Given the description of an element on the screen output the (x, y) to click on. 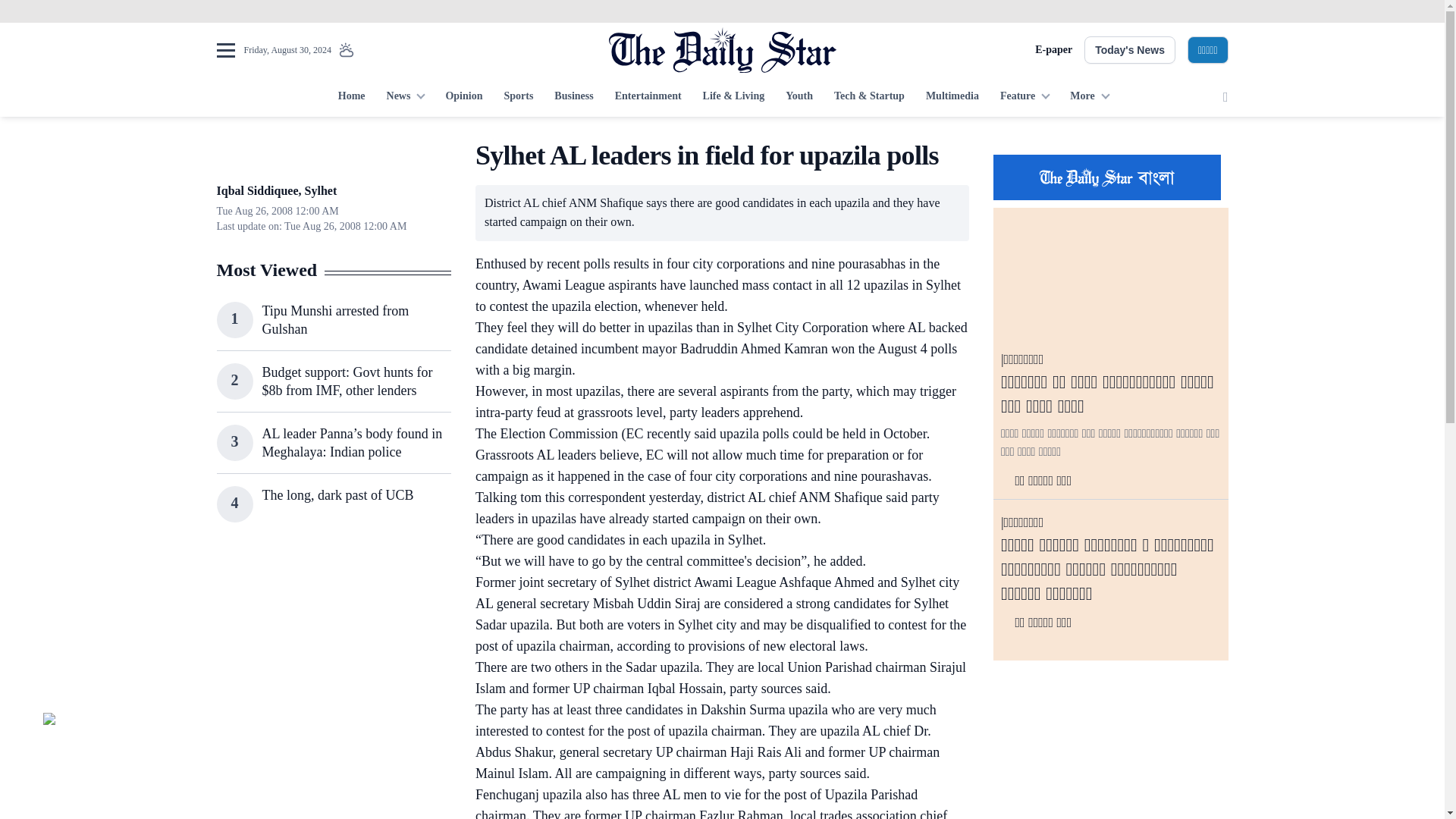
Multimedia (952, 96)
Entertainment (647, 96)
Feature (1024, 96)
Home (351, 96)
Sports (518, 96)
News (405, 96)
E-paper (1053, 49)
Business (573, 96)
Opinion (463, 96)
